Given the description of an element on the screen output the (x, y) to click on. 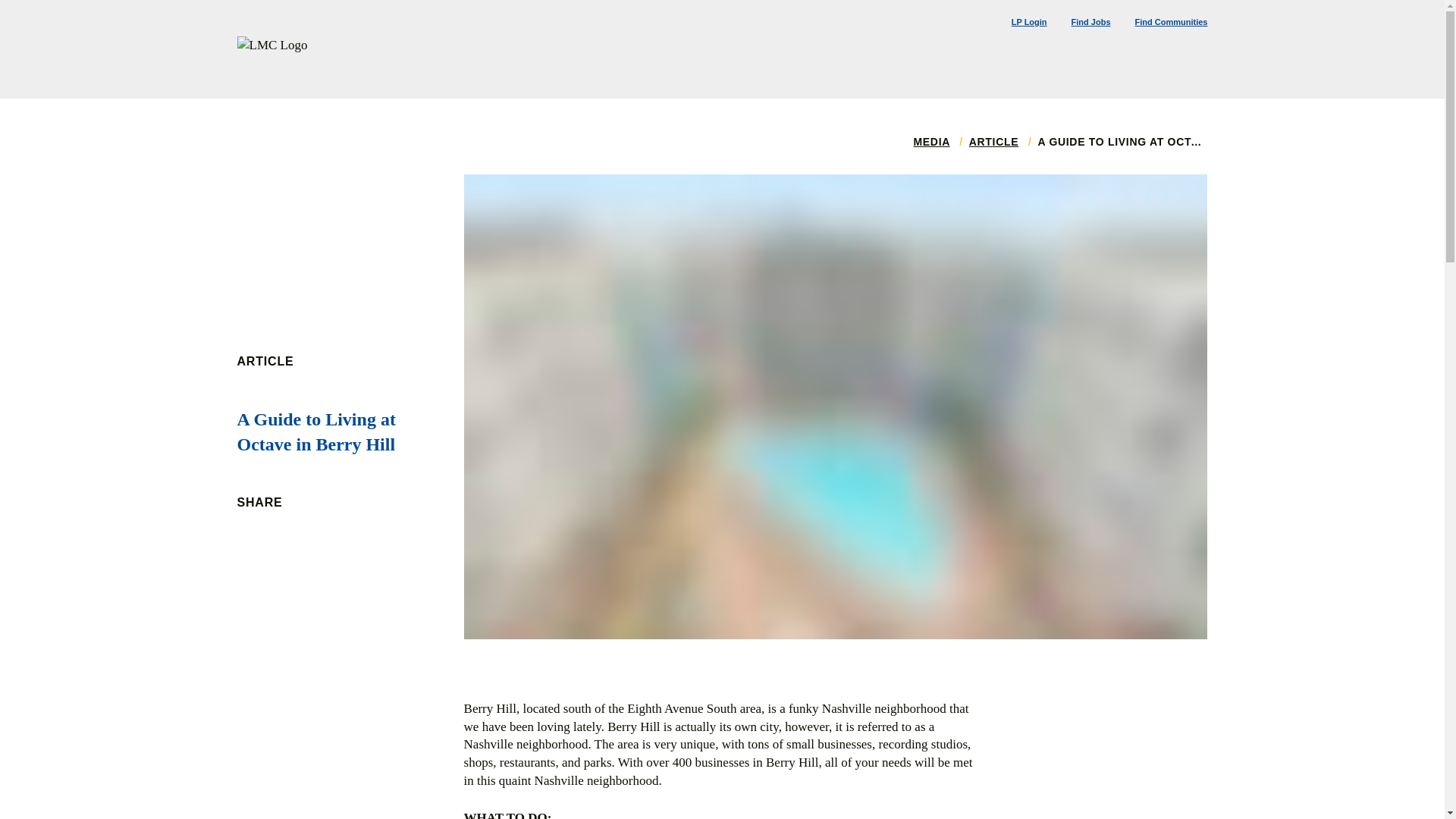
Find Jobs (1090, 21)
ARTICLE (994, 141)
Find Communities (1171, 21)
MEDIA (930, 141)
LP Login (1028, 21)
